Given the description of an element on the screen output the (x, y) to click on. 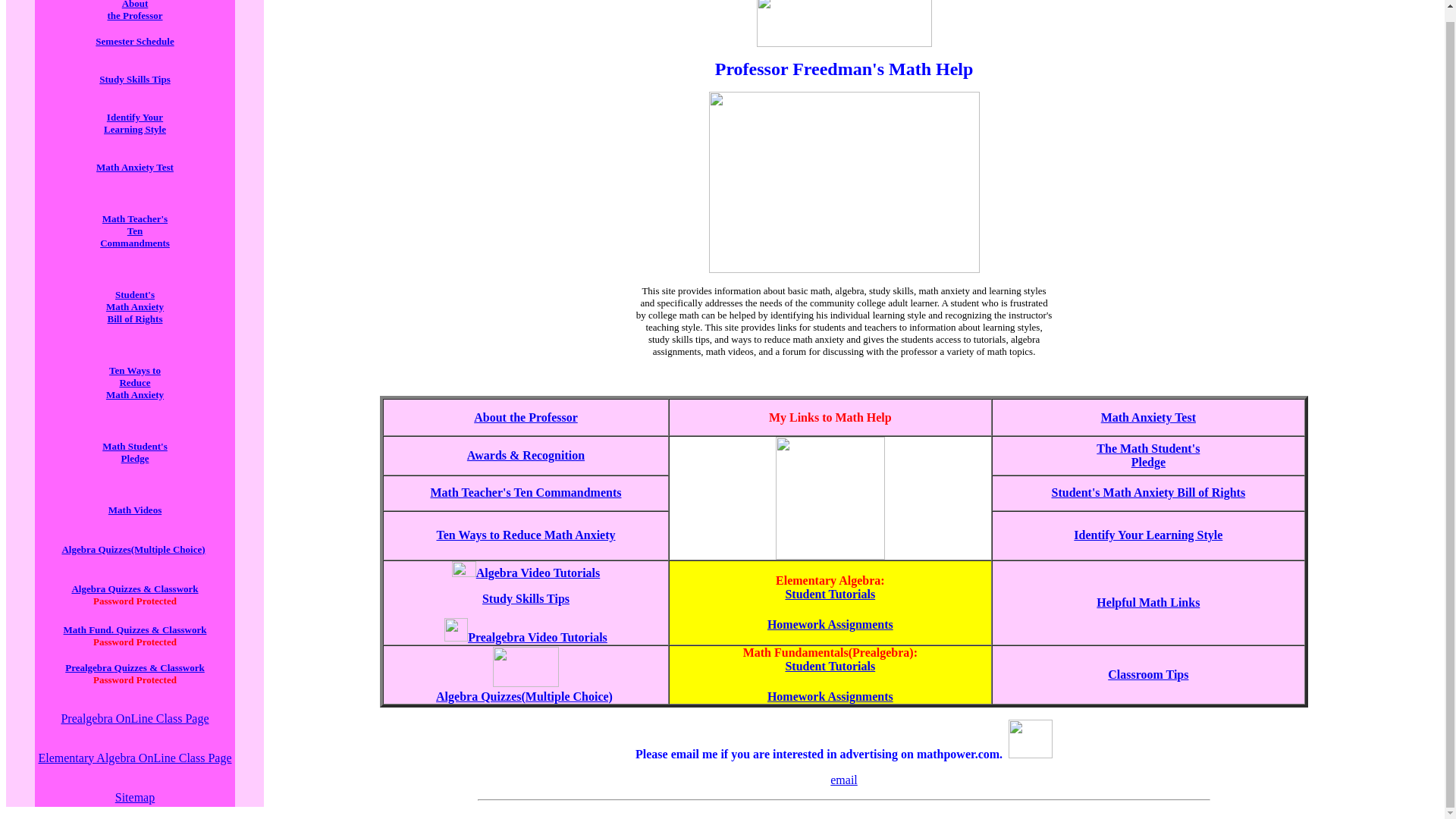
Elementary Algebra OnLine Class Page (134, 757)
Study Skills Tips (134, 122)
Math Videos (134, 381)
Math Teacher's Ten Commandments (134, 305)
Helpful Math Links (135, 229)
Algebra Video Tutorials (134, 78)
